Given the description of an element on the screen output the (x, y) to click on. 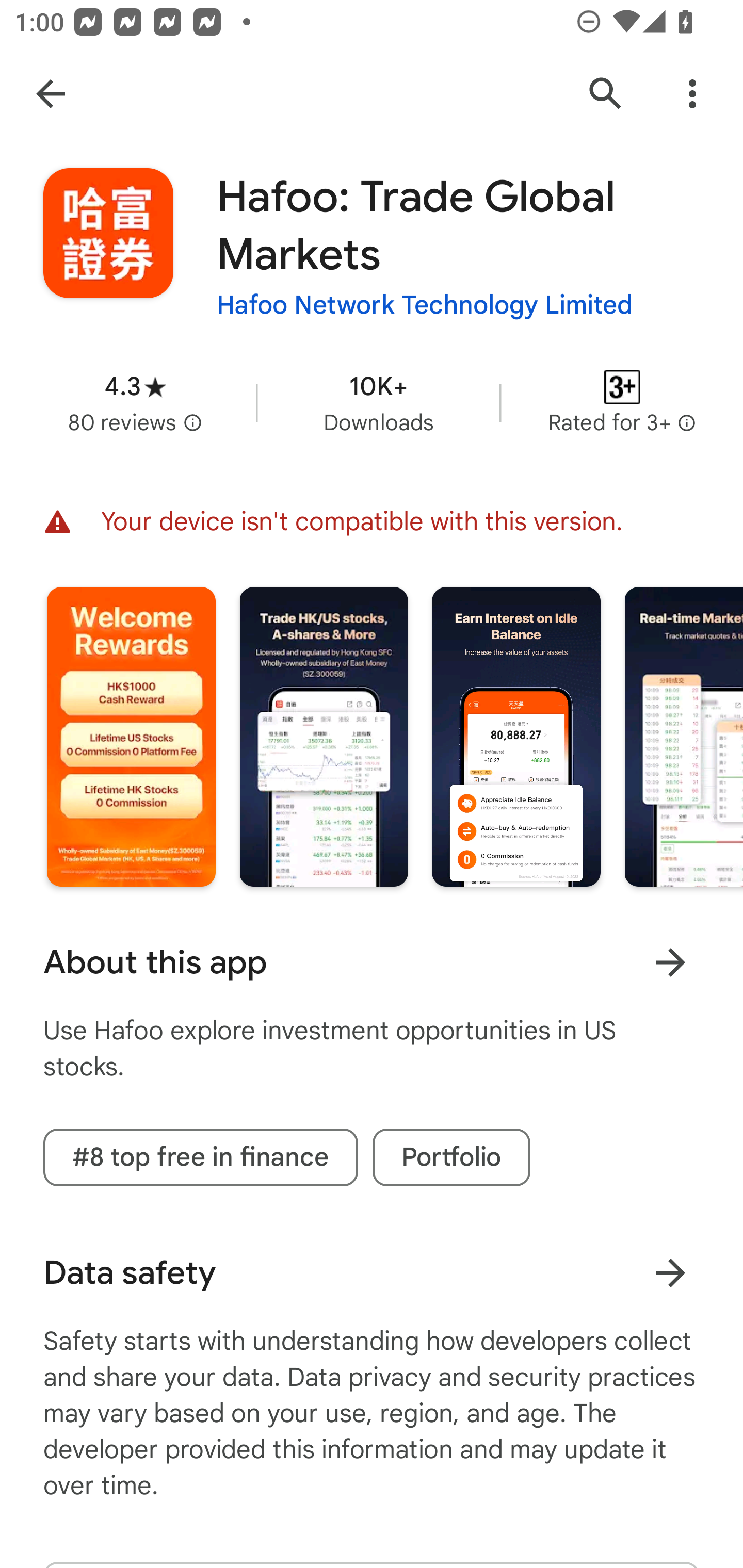
Navigate up (50, 93)
Search Google Play (605, 93)
More Options (692, 93)
Hafoo Network Technology Limited (424, 304)
Average rating 4.3 stars in 80 reviews (135, 402)
Content rating Rated for 3+ (622, 402)
Screenshot "1" of "8" (130, 735)
Screenshot "2" of "8" (323, 735)
Screenshot "3" of "8" (515, 735)
Screenshot "4" of "8" (683, 735)
About this app Learn more About this app (371, 962)
Learn more About this app (670, 961)
#8 top free in finance tag (200, 1157)
Portfolio tag (451, 1157)
Data safety Learn more about data safety (371, 1273)
Learn more about data safety (670, 1272)
